Given the description of an element on the screen output the (x, y) to click on. 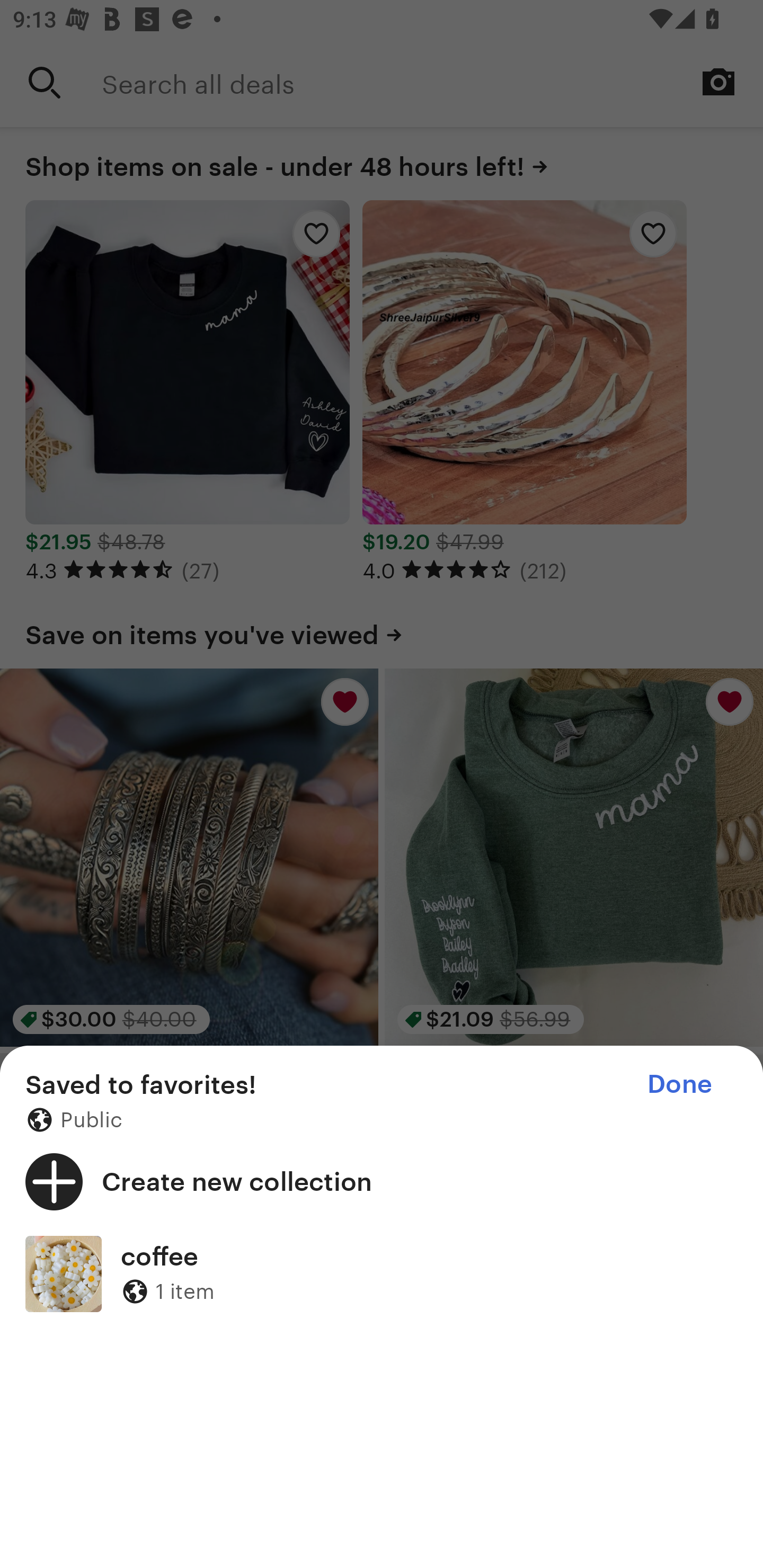
Done (679, 1083)
Create new collection (381, 1181)
coffee 1 item (381, 1273)
